Given the description of an element on the screen output the (x, y) to click on. 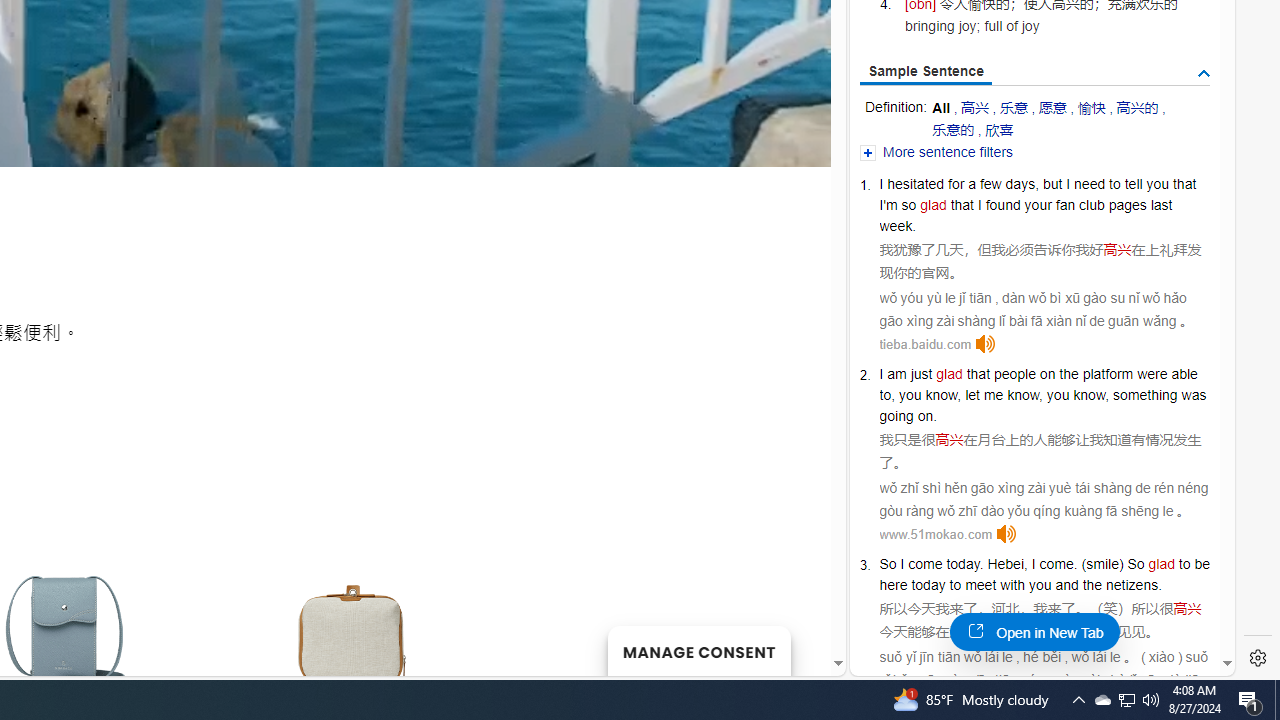
was (1194, 395)
Hebei (1005, 563)
something (1145, 395)
I (1032, 563)
week (895, 226)
